Given the description of an element on the screen output the (x, y) to click on. 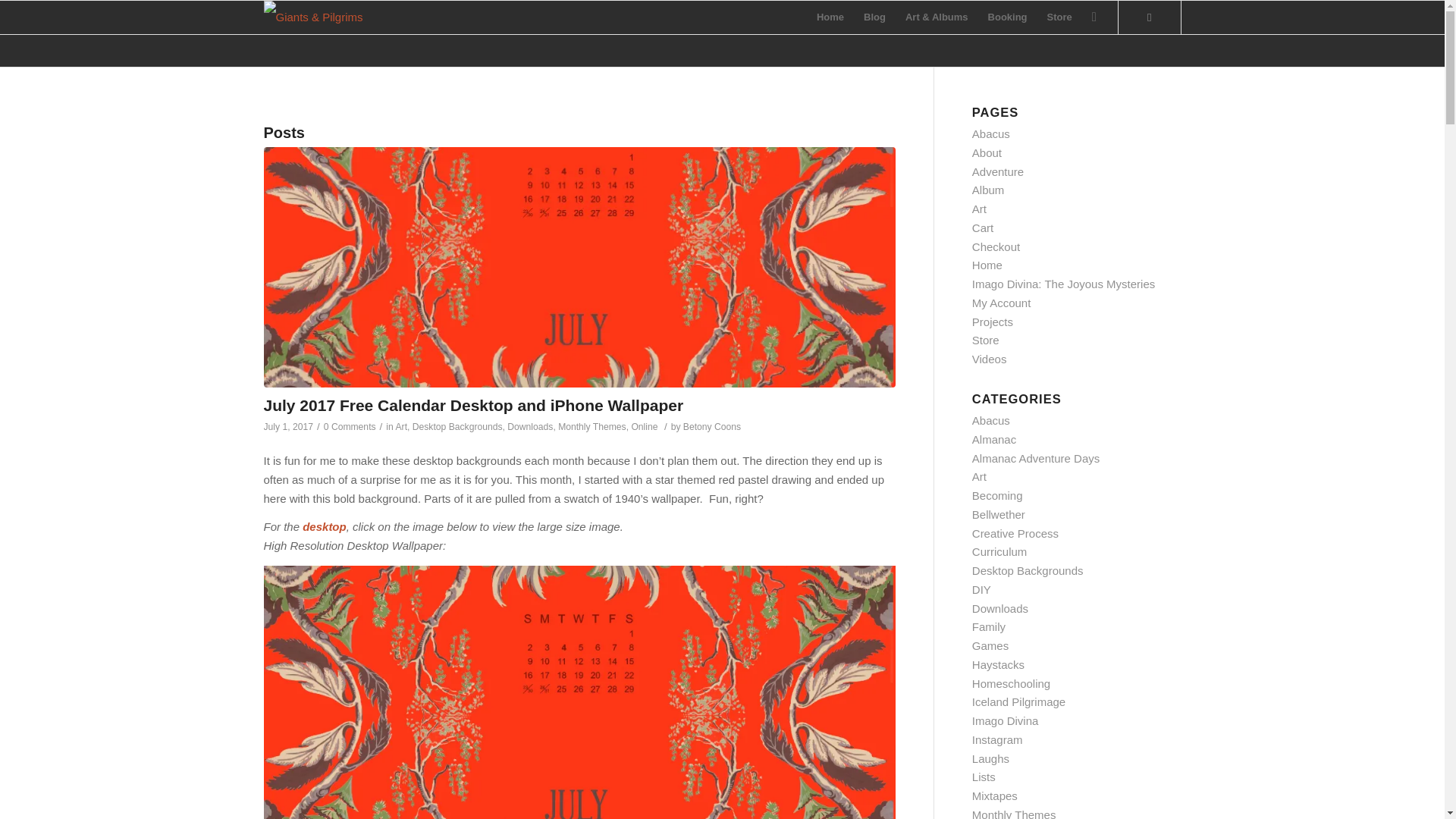
Betony Coons (711, 426)
Downloads (529, 426)
Adventure (997, 171)
Album (988, 189)
Store (1058, 17)
Desktop Backgrounds (457, 426)
Cart (982, 227)
Abacus (991, 133)
Online (644, 426)
Posts by Betony Coons (711, 426)
